Given the description of an element on the screen output the (x, y) to click on. 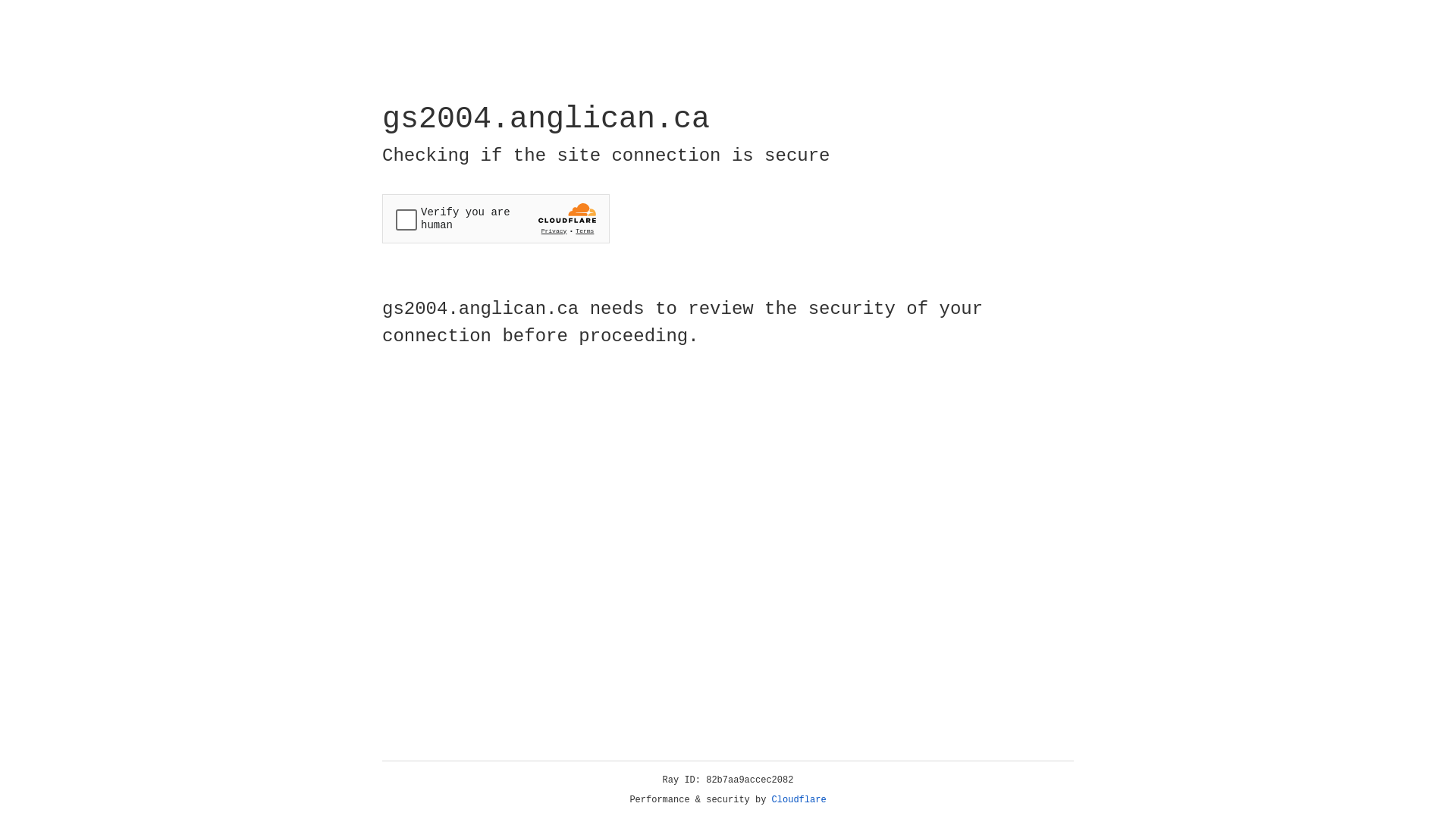
Widget containing a Cloudflare security challenge Element type: hover (495, 218)
Cloudflare Element type: text (798, 799)
